Given the description of an element on the screen output the (x, y) to click on. 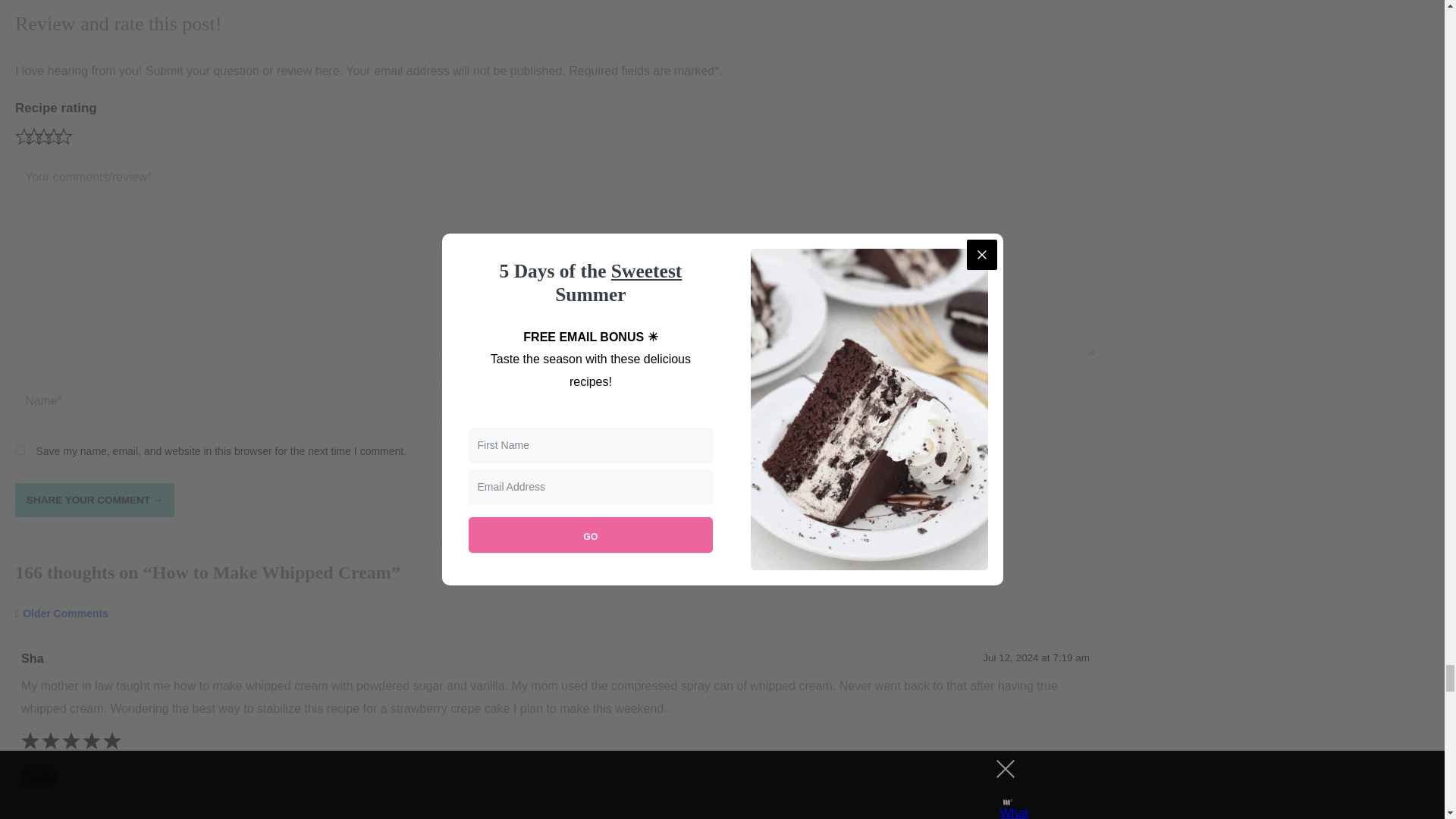
yes (19, 450)
